Given the description of an element on the screen output the (x, y) to click on. 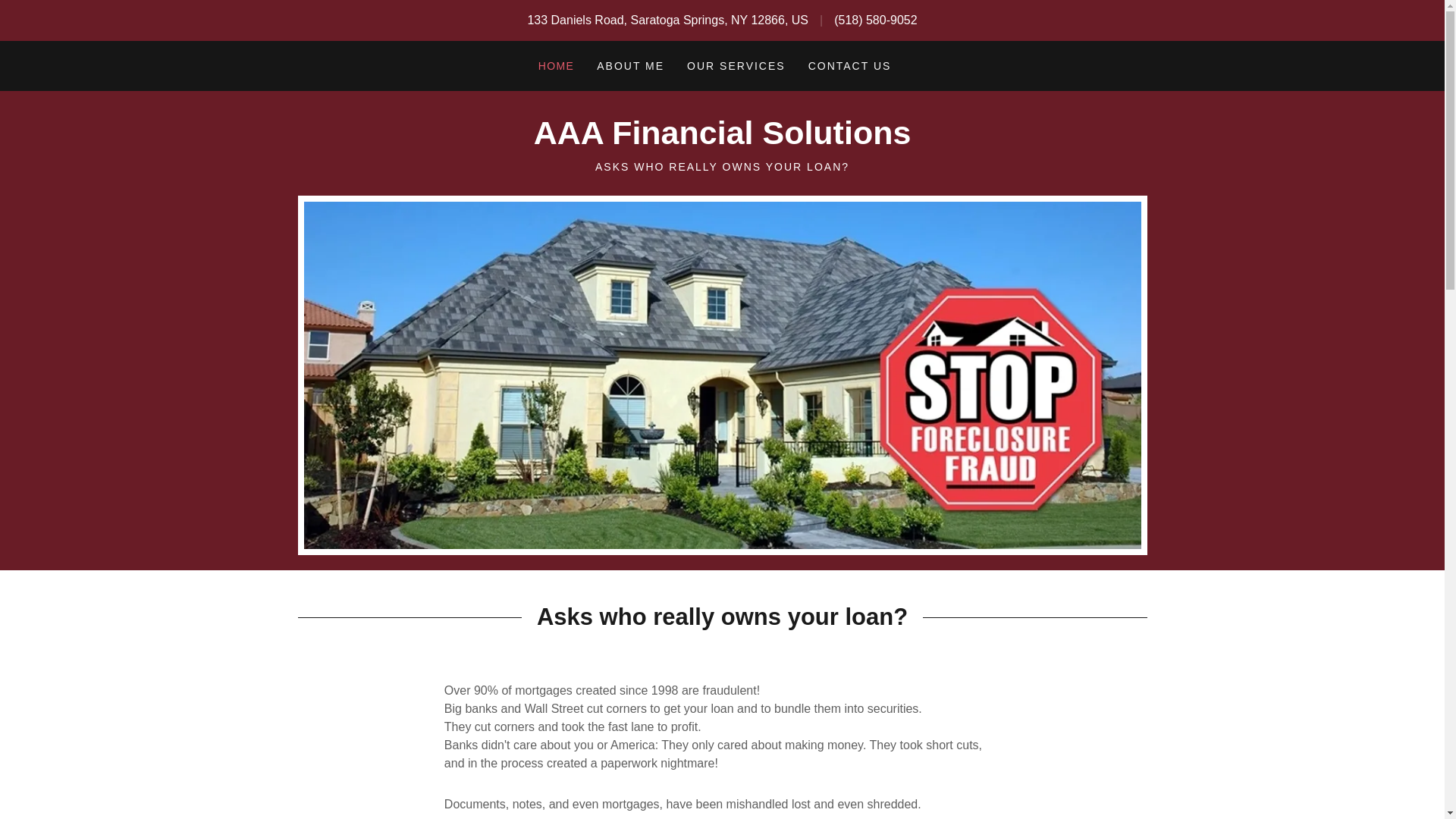
CONTACT US (849, 65)
AAA Financial Solutions (722, 139)
ABOUT ME (630, 65)
AAA Financial Solutions (722, 139)
OUR SERVICES (736, 65)
HOME (556, 65)
